Given the description of an element on the screen output the (x, y) to click on. 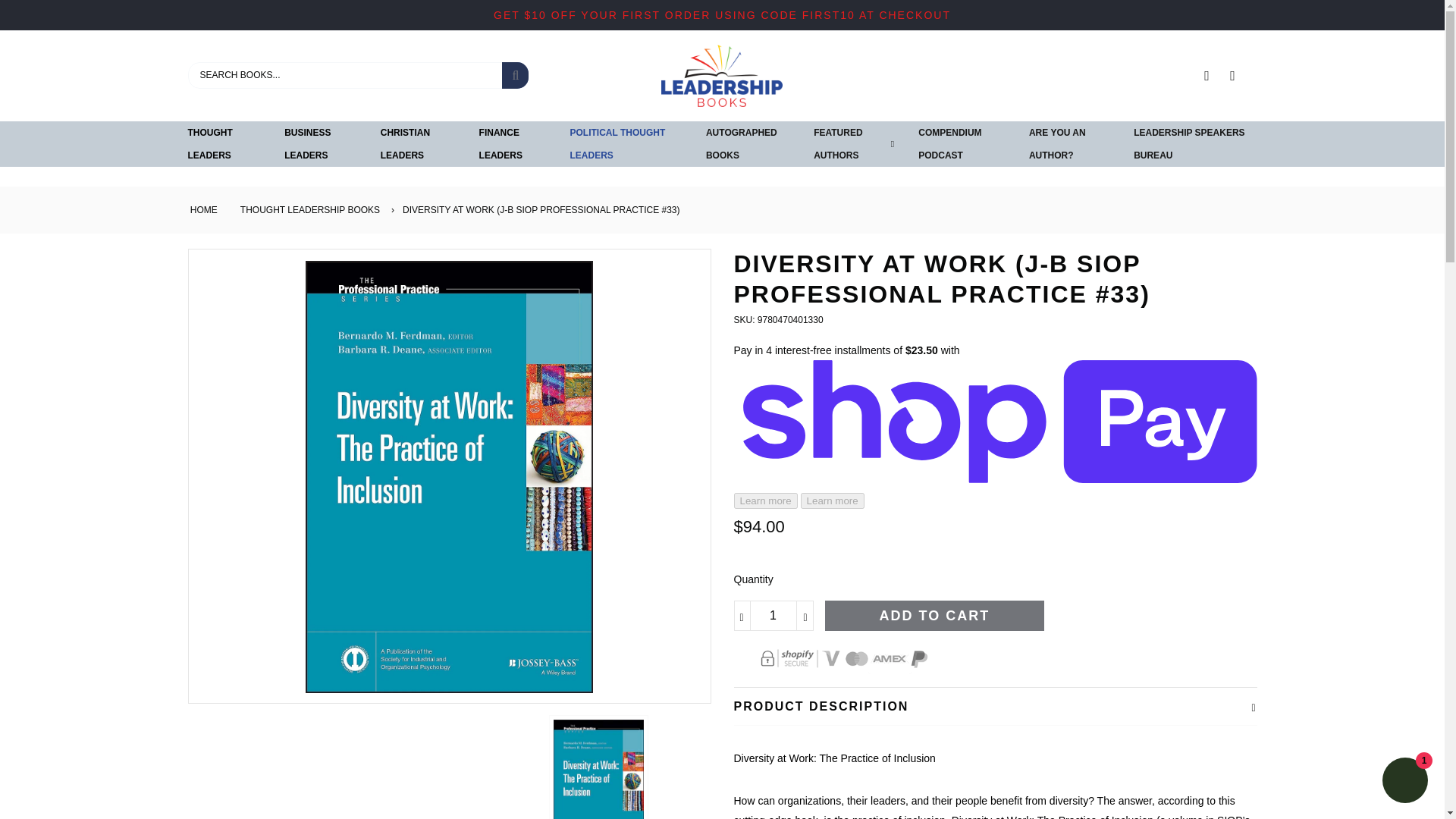
POLITICAL THOUGHT LEADERS (625, 144)
AUTOGRAPHED BOOKS (747, 144)
FEATURED AUTHORS (849, 144)
COMPENDIUM PODCAST (961, 144)
LEADERSHIP SPEAKERS BUREAU (1195, 144)
CHRISTIAN LEADERS (417, 144)
Home (201, 209)
FINANCE LEADERS (512, 144)
BUSINESS LEADERS (319, 144)
Shopify online store chat (1404, 781)
ARE YOU AN AUTHOR? (1069, 144)
THOUGHT LEADERS (223, 144)
1 (773, 615)
